Given the description of an element on the screen output the (x, y) to click on. 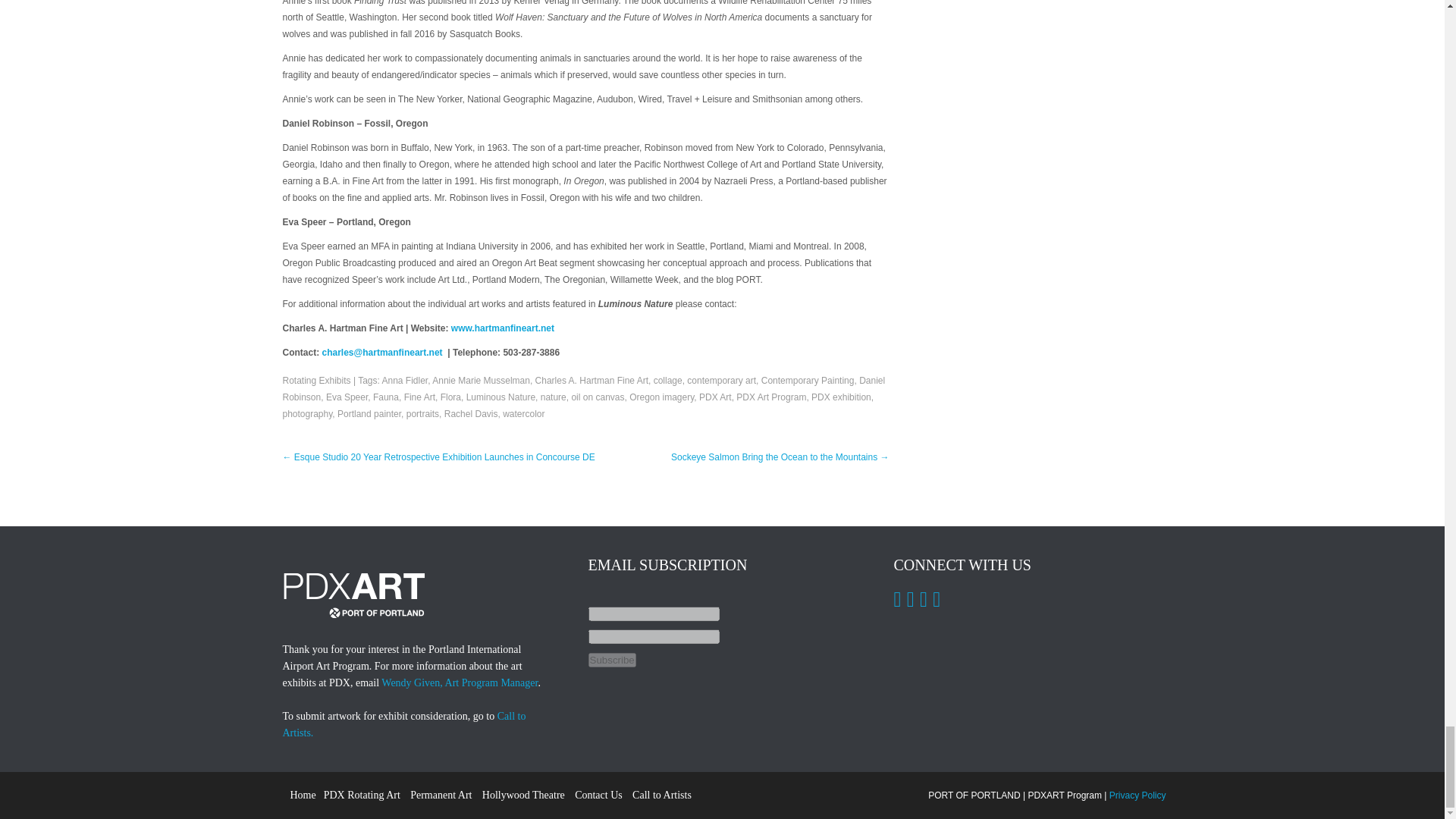
Eva Speer (347, 397)
Fine Art (419, 397)
Luminous Nature (500, 397)
Annie Marie Musselman (480, 380)
Contemporary Painting (807, 380)
contemporary art (721, 380)
collage (667, 380)
www.hartmanfineart.net (502, 327)
Anna Fidler (404, 380)
Flora (451, 397)
